Given the description of an element on the screen output the (x, y) to click on. 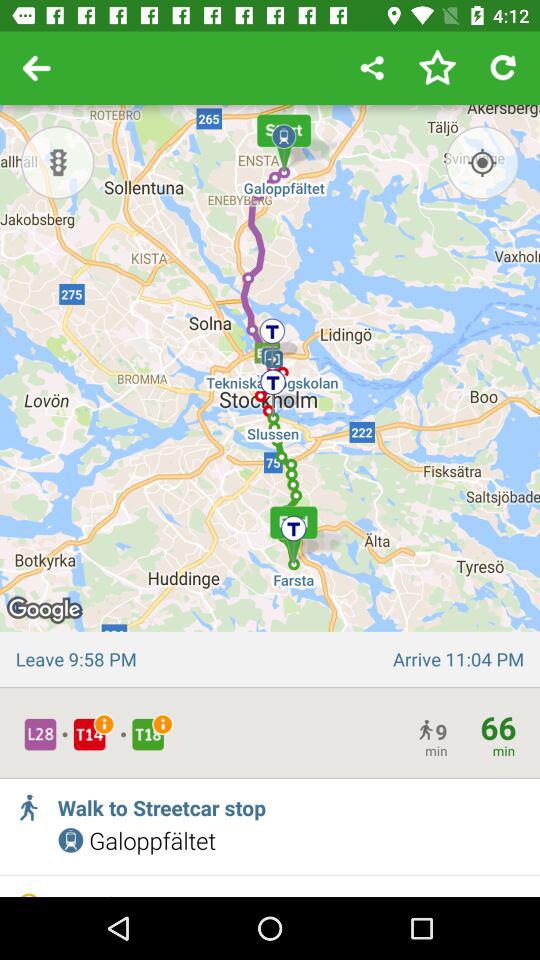
find current location (482, 162)
